Given the description of an element on the screen output the (x, y) to click on. 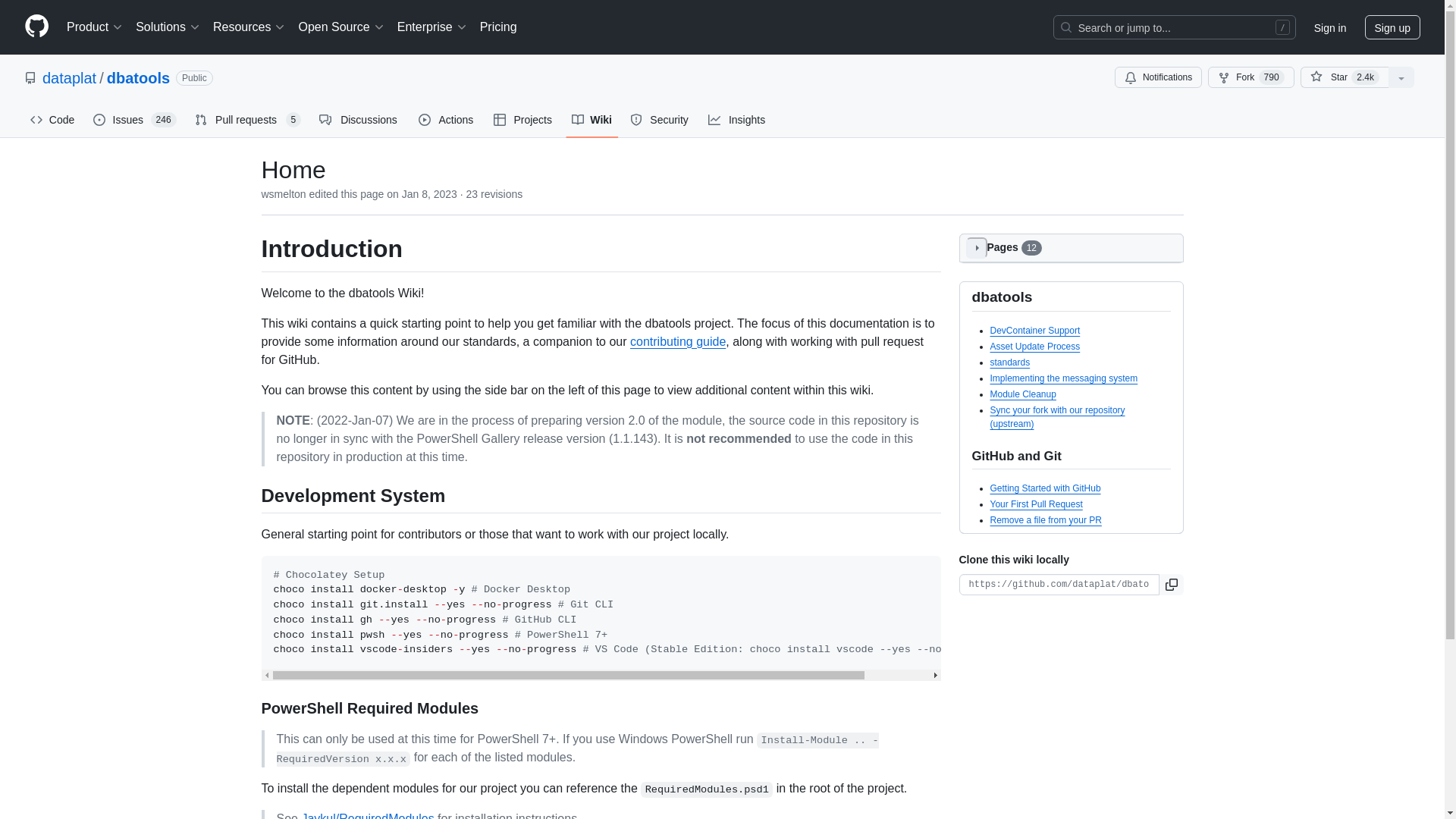
Resources (249, 27)
246 (163, 119)
Open Source (341, 27)
Solutions (167, 27)
790 (1271, 77)
2,402 (1364, 77)
5 (293, 119)
Product (95, 27)
12 (1032, 247)
